Given the description of an element on the screen output the (x, y) to click on. 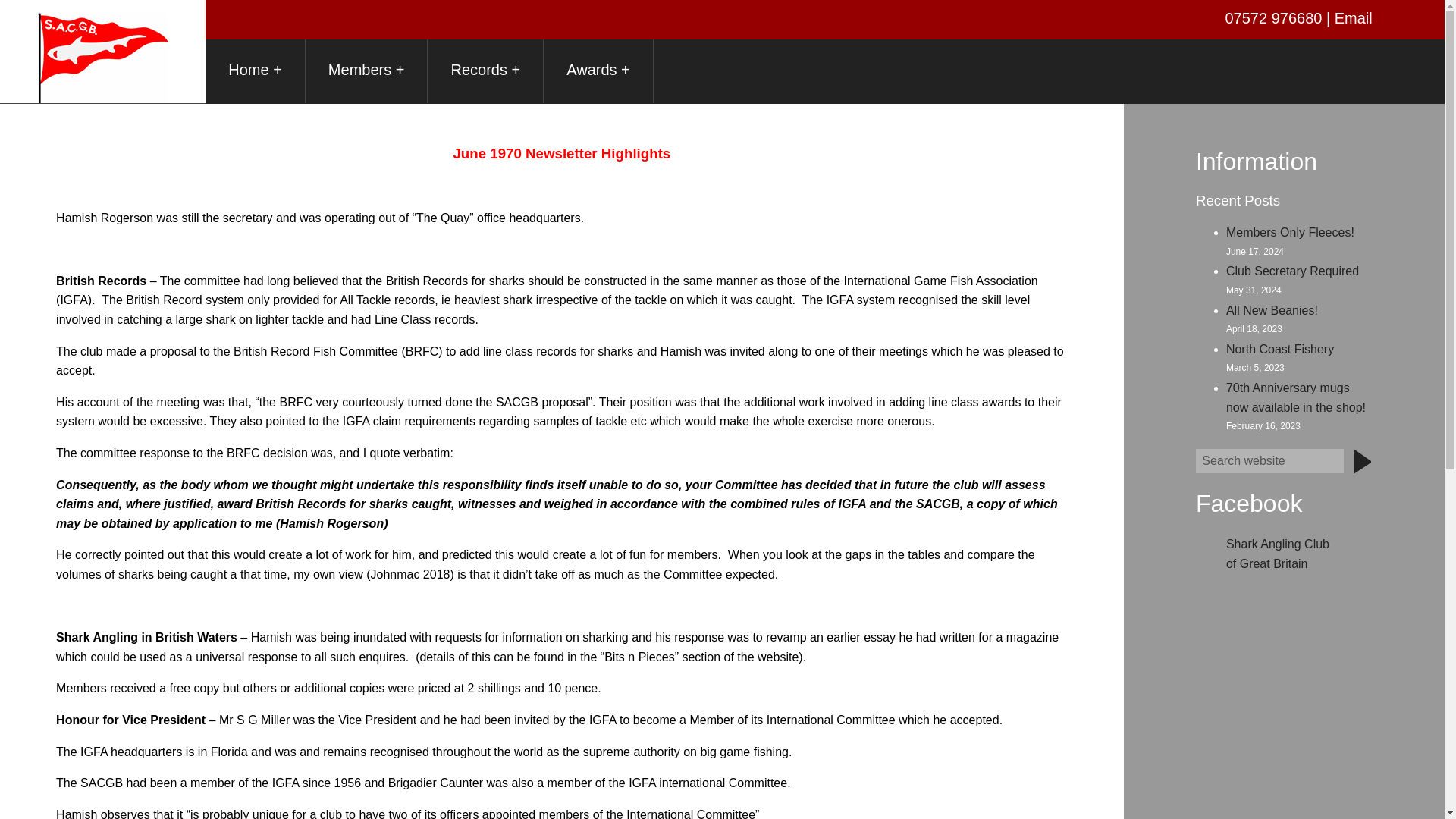
70th Anniversary mugs now available in the shop! (1295, 397)
Shark Angling Club of Great Britain (1277, 553)
 Search website (1269, 460)
Club Secretary Required (1291, 270)
Email (1354, 17)
Members (366, 71)
Members Only Fleeces! (1289, 232)
07572 976680 (1275, 17)
Home (254, 71)
Records (485, 71)
